Given the description of an element on the screen output the (x, y) to click on. 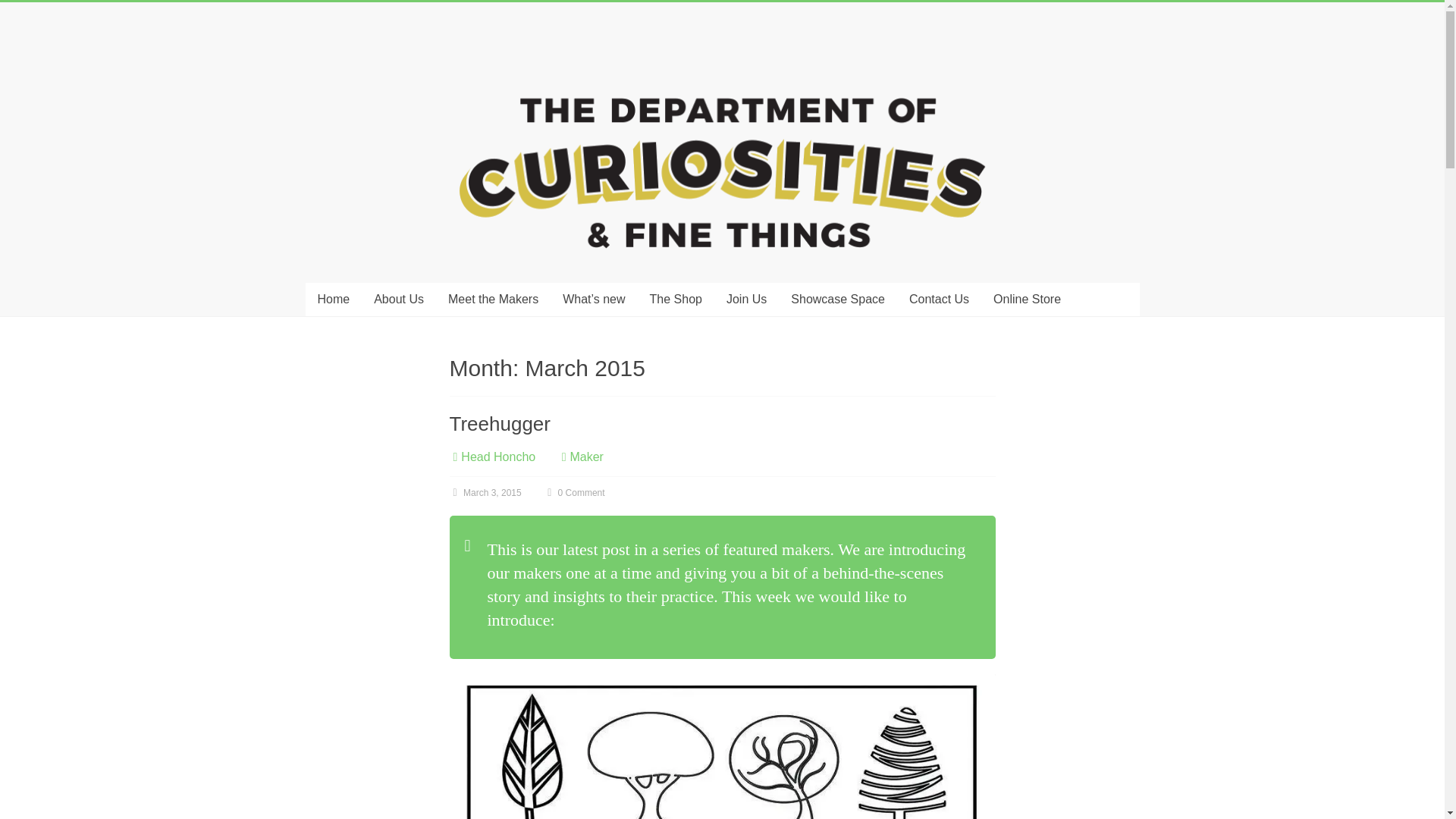
March 3, 2015 (484, 492)
0 Comment (573, 492)
Head Honcho (498, 456)
Contact Us (938, 299)
Treehugger (499, 423)
Treehugger (499, 423)
Join Us (746, 299)
Meet the Makers (492, 299)
1:28 pm (484, 492)
About Us (398, 299)
Maker (585, 456)
Online Store (1027, 299)
Head Honcho (498, 456)
Home (332, 299)
The Shop (675, 299)
